Given the description of an element on the screen output the (x, y) to click on. 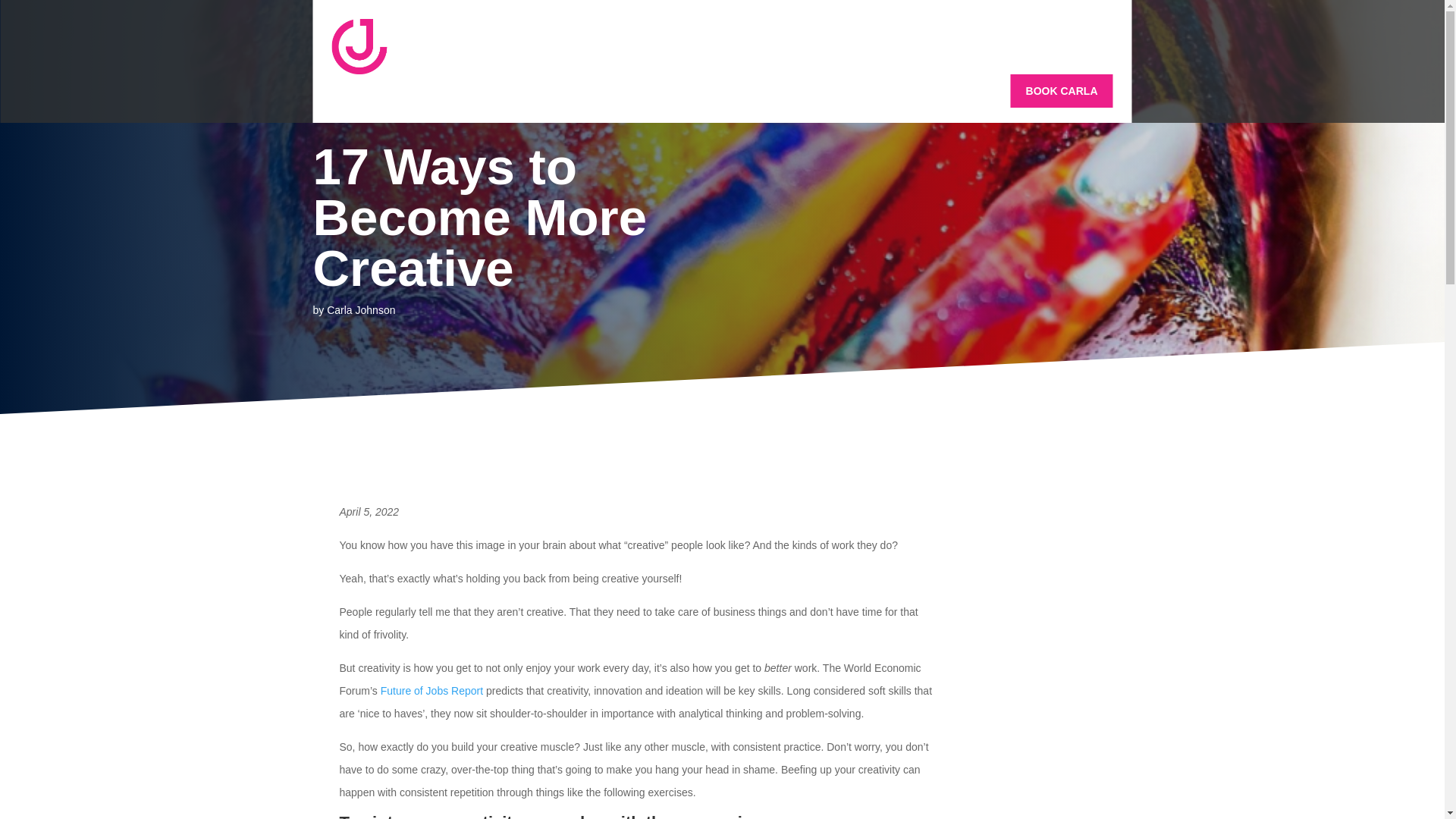
Posts by Carla Johnson (360, 309)
TESTIMONIALS (957, 90)
CONSULTING (661, 90)
BOOK CARLA (1061, 90)
Carla Johnson (360, 309)
MEET CARLA (488, 90)
BODY OF WORK (852, 90)
SPEAKING (574, 90)
WORKSHOPS (748, 90)
Future of Jobs Report (431, 690)
